Given the description of an element on the screen output the (x, y) to click on. 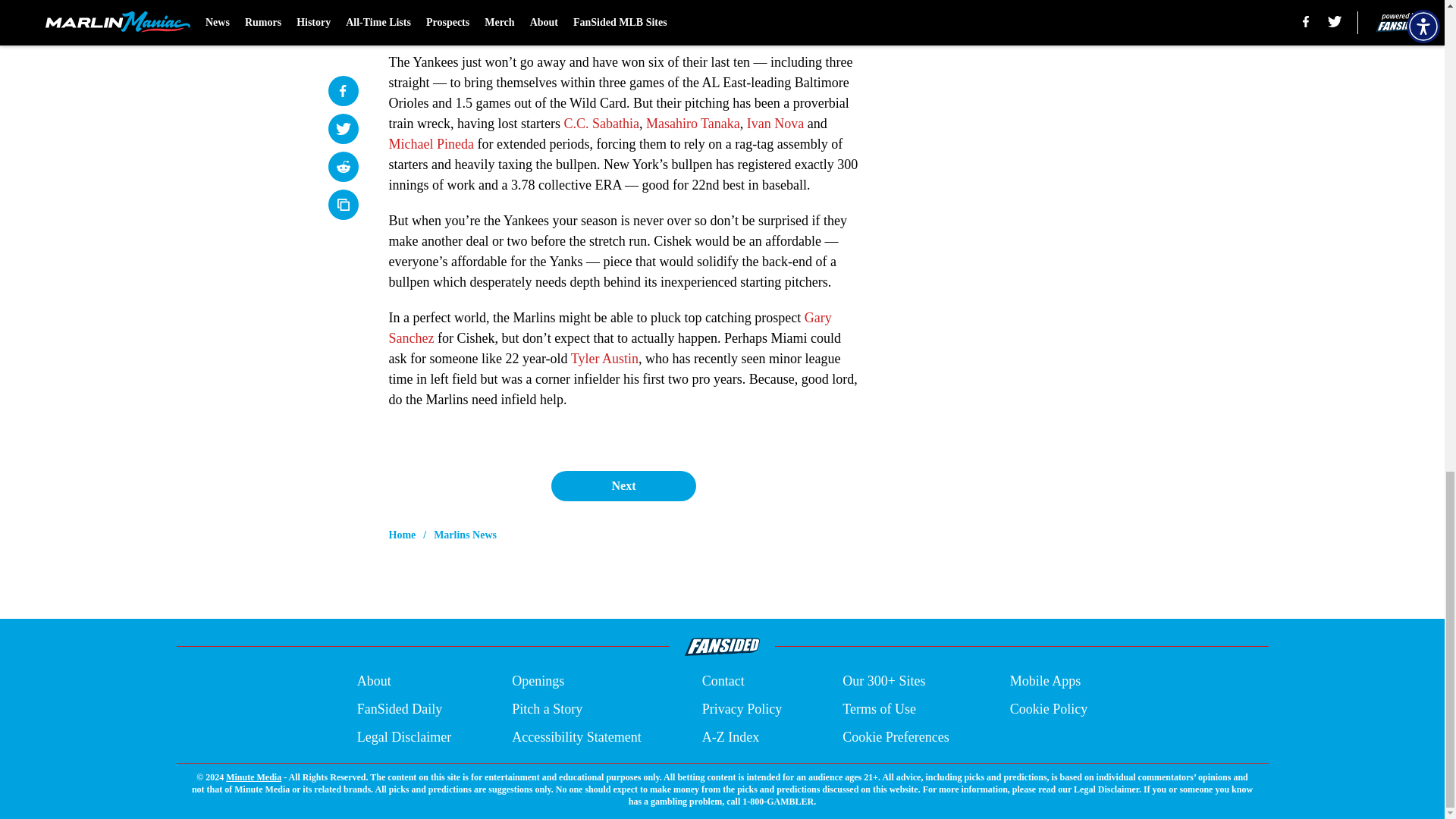
Mobile Apps (1045, 680)
Home (401, 534)
Marlins News (464, 534)
Contact (722, 680)
Openings (538, 680)
Ivan Nova (774, 123)
Next (622, 485)
Tyler Austin (604, 358)
About (373, 680)
Masahiro Tanaka (692, 123)
